Given the description of an element on the screen output the (x, y) to click on. 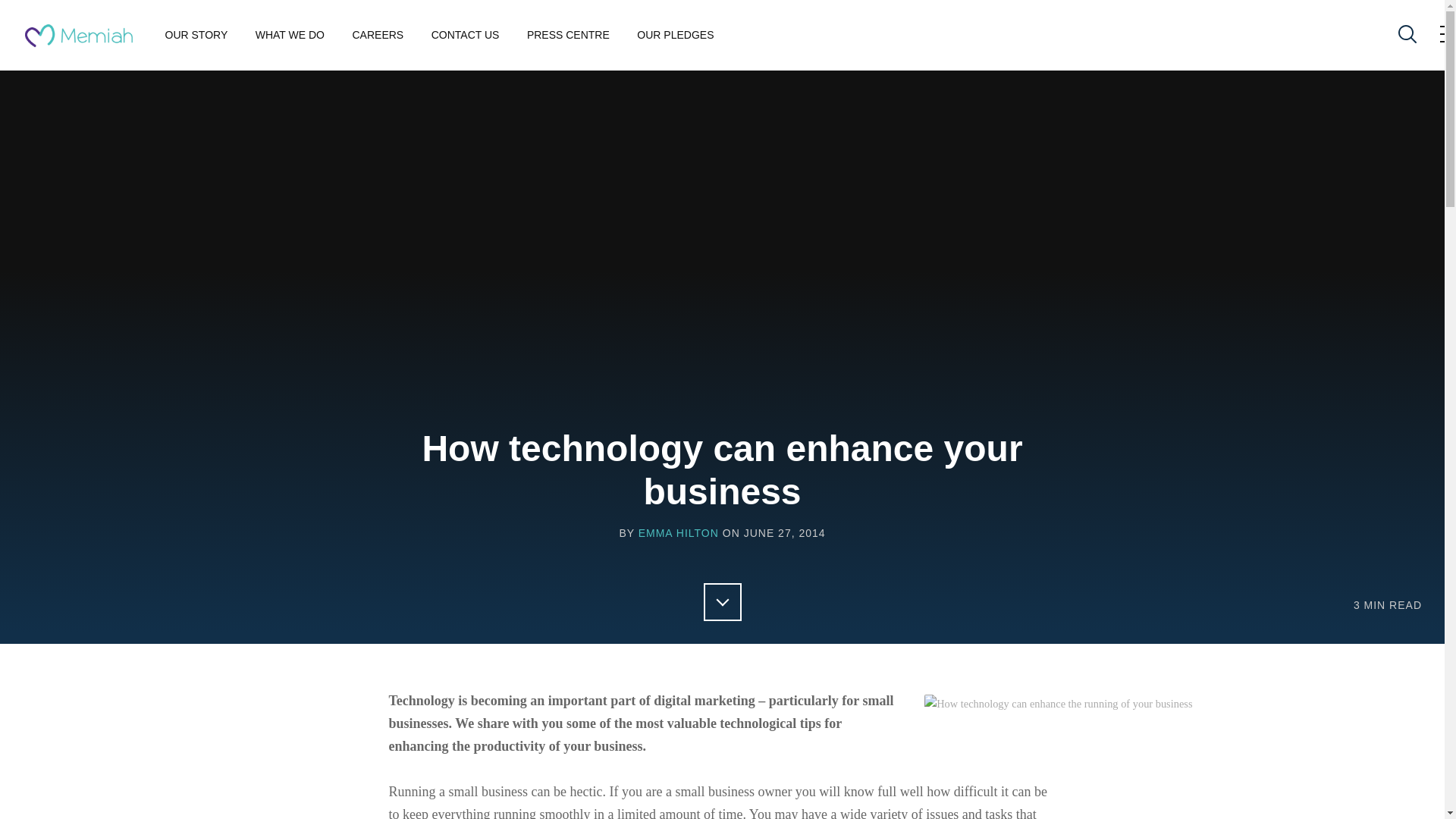
WHAT WE DO (290, 34)
EMMA HILTON (679, 533)
OUR PLEDGES (675, 34)
CONTACT US (464, 34)
PRESS CENTRE (568, 34)
Scroll Down (722, 601)
Search (1406, 33)
CAREERS (377, 34)
Scroll Down (722, 601)
OUR STORY (196, 34)
